Given the description of an element on the screen output the (x, y) to click on. 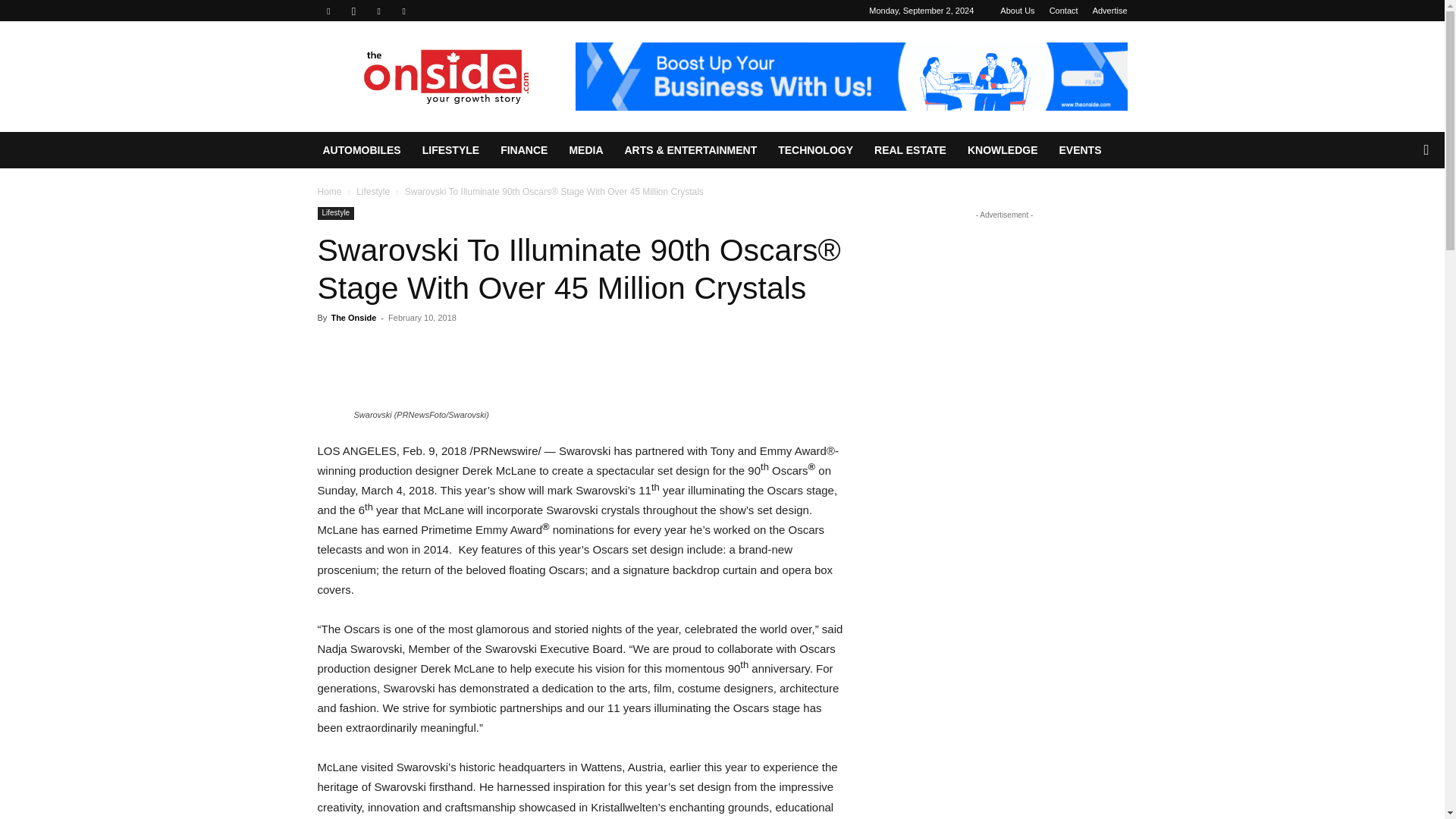
FINANCE (523, 149)
REAL ESTATE (909, 149)
www.theonside.com (445, 76)
About Us (1016, 10)
TECHNOLOGY (815, 149)
Twitter (403, 10)
Contact (1063, 10)
MEDIA (584, 149)
Facebook (328, 10)
EVENTS (1080, 149)
